Given the description of an element on the screen output the (x, y) to click on. 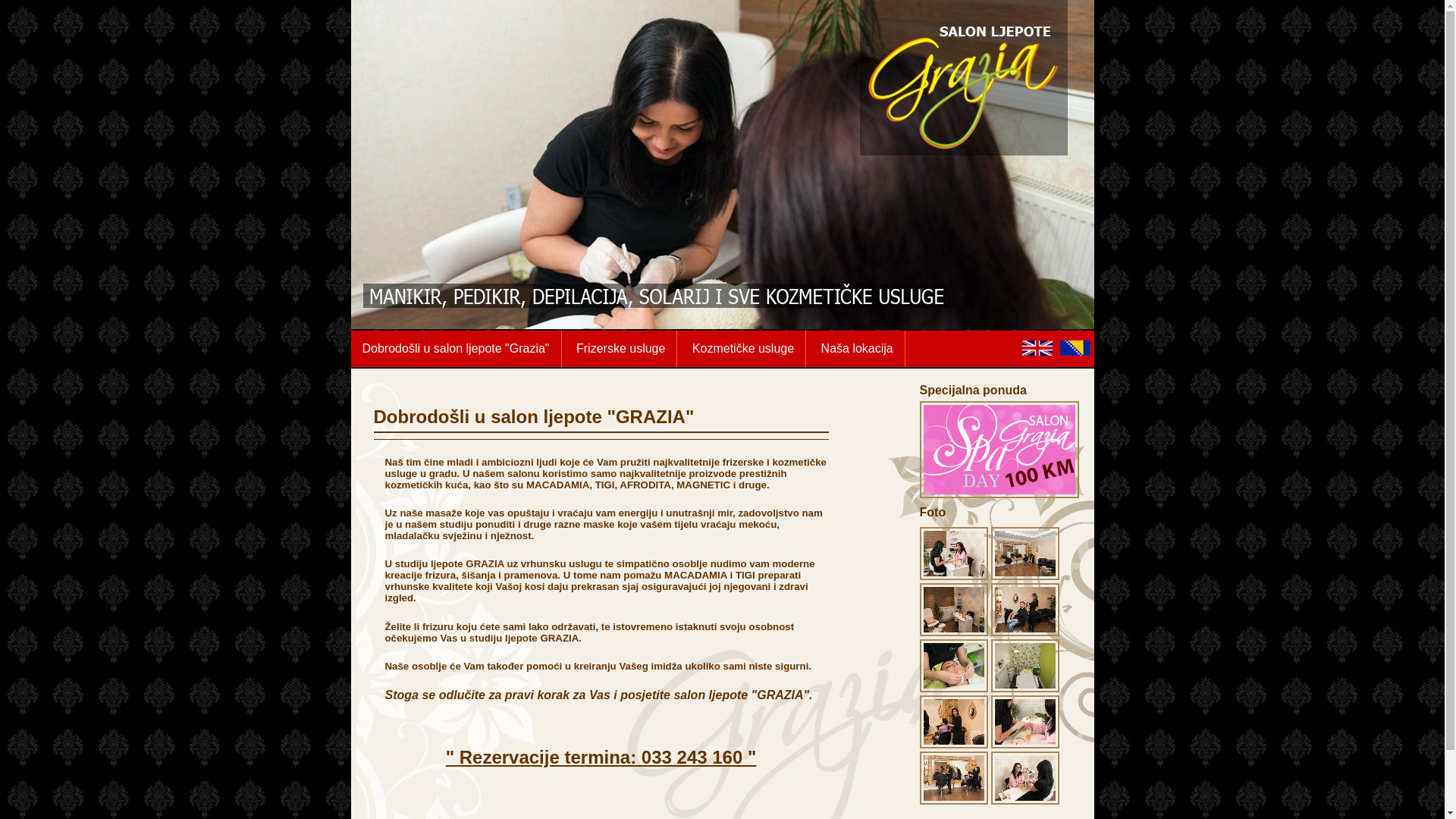
Frizerske usluge Element type: text (620, 348)
Grazia home gallery - picture 6 Element type: hover (1025, 687)
Grazia home gallery - picture 3 Element type: hover (953, 631)
Grazia home gallery - picture 5 Element type: hover (953, 687)
Grazia home gallery - picture 4 Element type: hover (1025, 631)
Grazia home gallery - picture 8 Element type: hover (1025, 743)
Grazia home gallery - picture 1 Element type: hover (953, 575)
Grazia home gallery - picture 9 Element type: hover (953, 799)
Grazia Spa Day Promo Element type: hover (998, 493)
Frizerske usluge Element type: text (620, 348)
Grazia home gallery - picture 10 Element type: hover (1025, 799)
Grazia home gallery - picture 7 Element type: hover (953, 743)
Grazia home gallery - picture 2 Element type: hover (1025, 575)
